Given the description of an element on the screen output the (x, y) to click on. 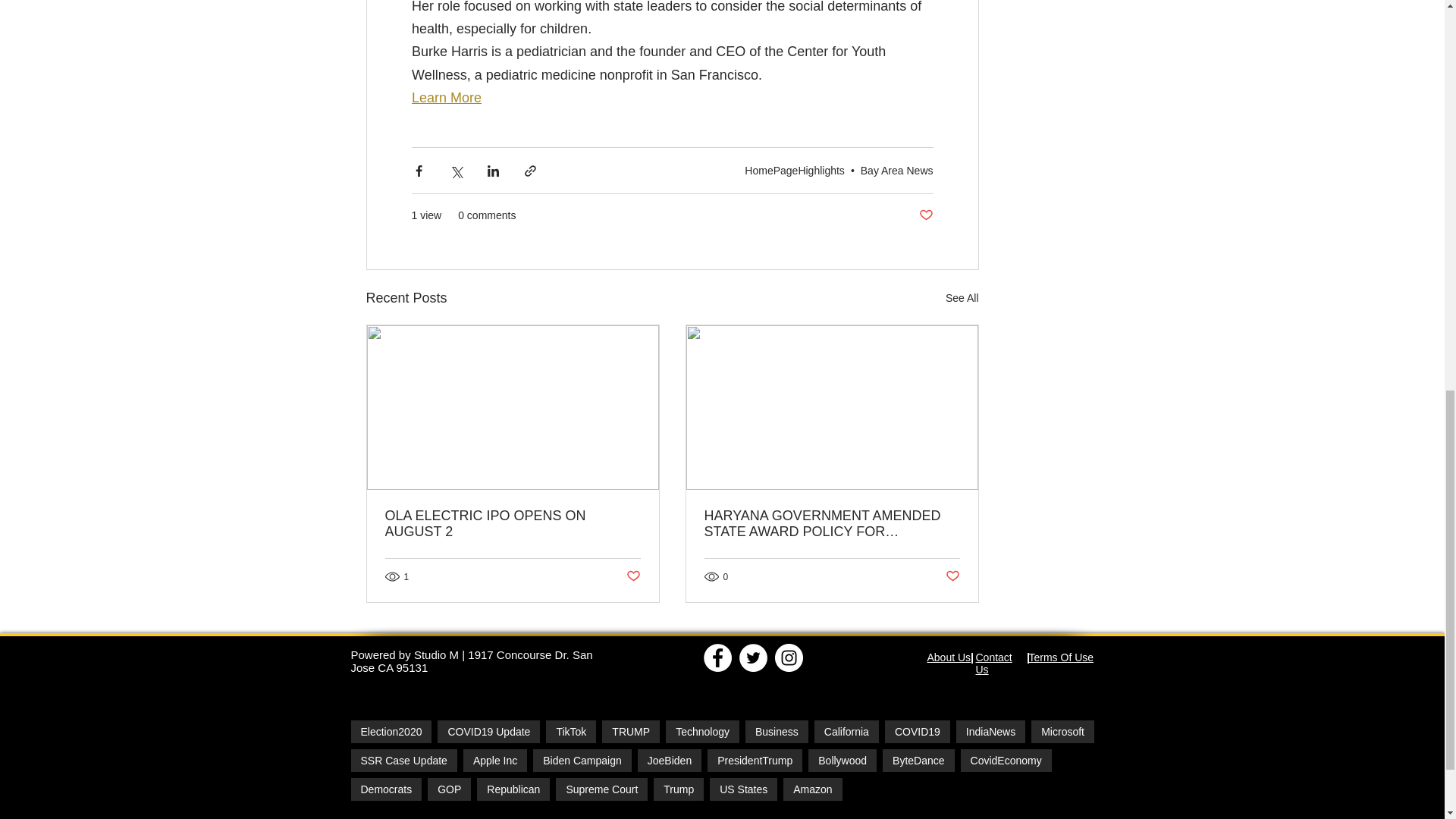
Post not marked as liked (925, 215)
See All (961, 298)
HomePageHighlights (794, 170)
Post not marked as liked (951, 576)
COVID19 Update (489, 731)
Contact Us (993, 663)
Post not marked as liked (633, 576)
Election2020 (390, 731)
Learn More (445, 97)
About Us (948, 657)
OLA ELECTRIC IPO OPENS ON AUGUST 2 (512, 523)
Bay Area News (896, 170)
Terms Of Use (1060, 657)
